Given the description of an element on the screen output the (x, y) to click on. 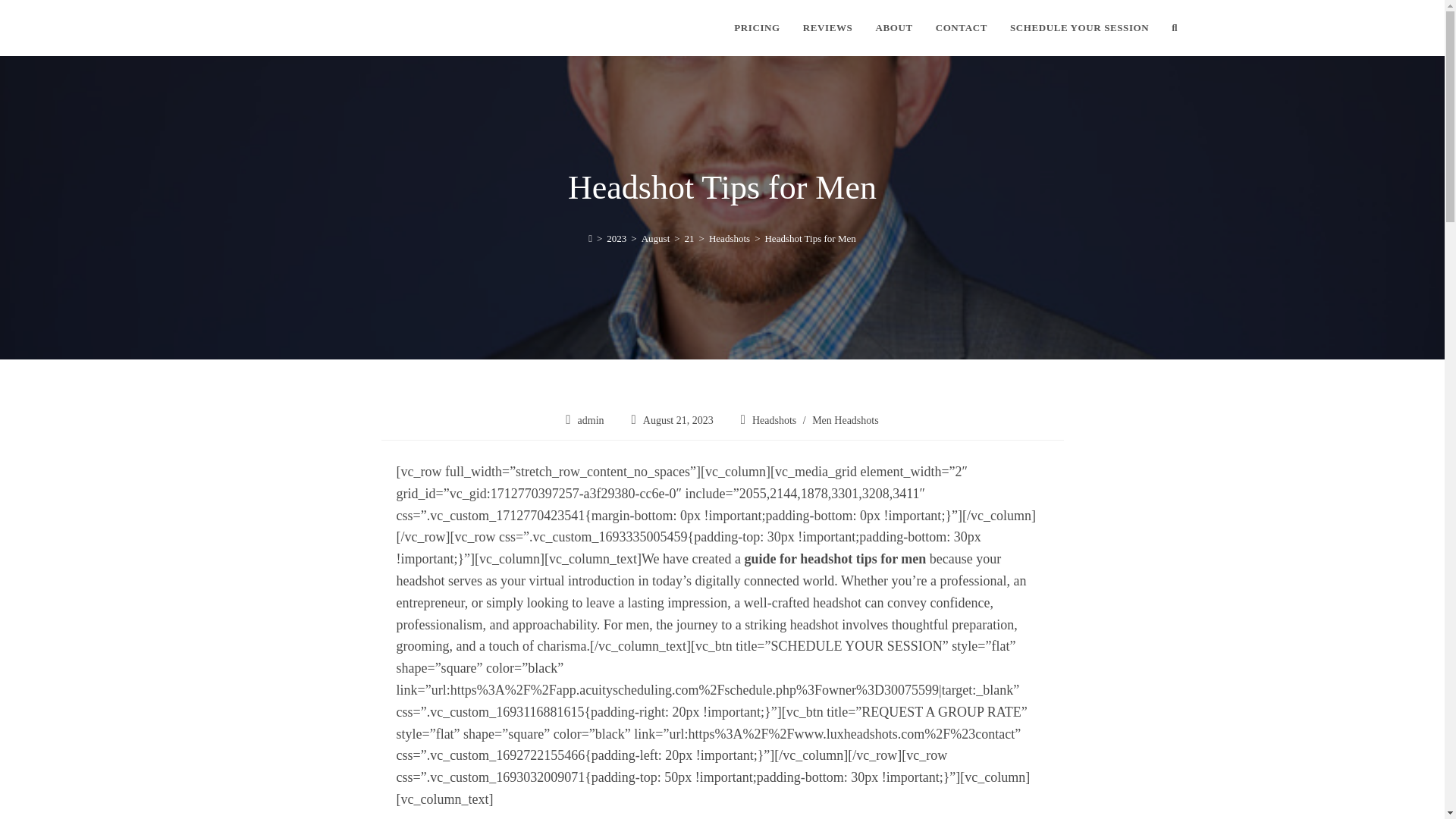
Men Headshots (845, 419)
Headshot Tips for Men (810, 238)
Posts by admin (591, 419)
PRICING (757, 28)
Headshots (729, 238)
2023 (616, 238)
REVIEWS (828, 28)
August (655, 238)
SCHEDULE YOUR SESSION (1079, 28)
CONTACT (961, 28)
